Given the description of an element on the screen output the (x, y) to click on. 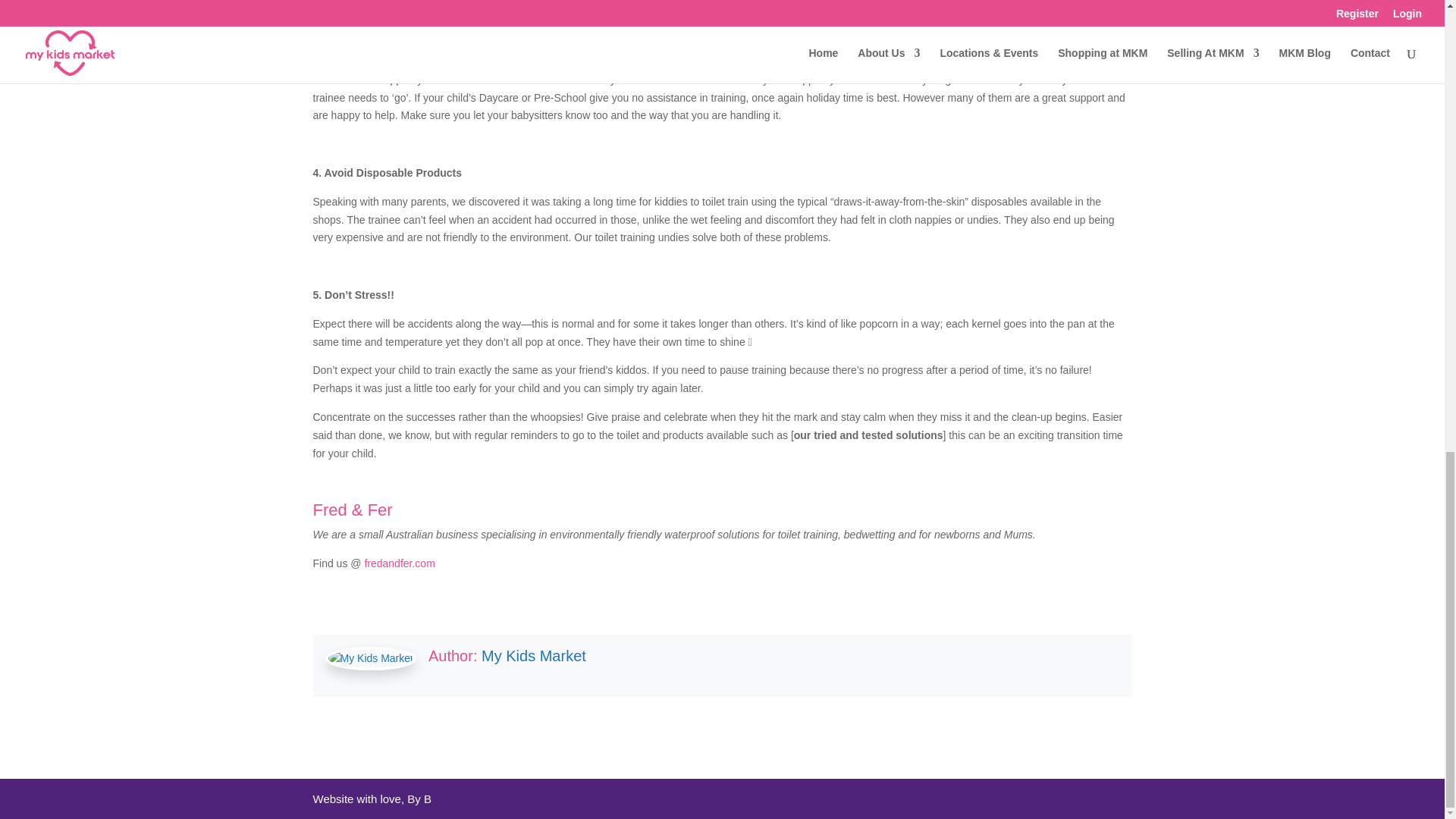
fredandfer.com (398, 563)
My Kids Market (533, 655)
